Given the description of an element on the screen output the (x, y) to click on. 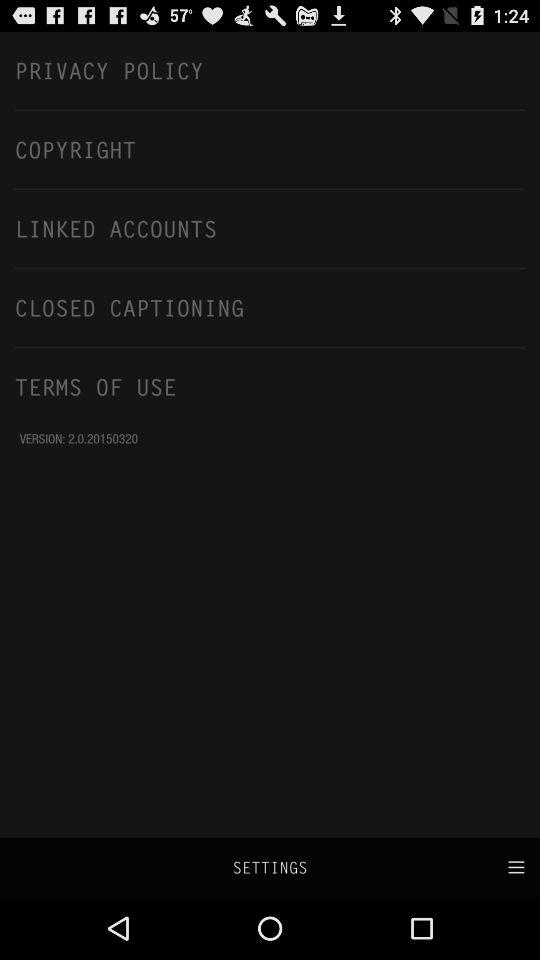
flip to the copyright icon (270, 149)
